Given the description of an element on the screen output the (x, y) to click on. 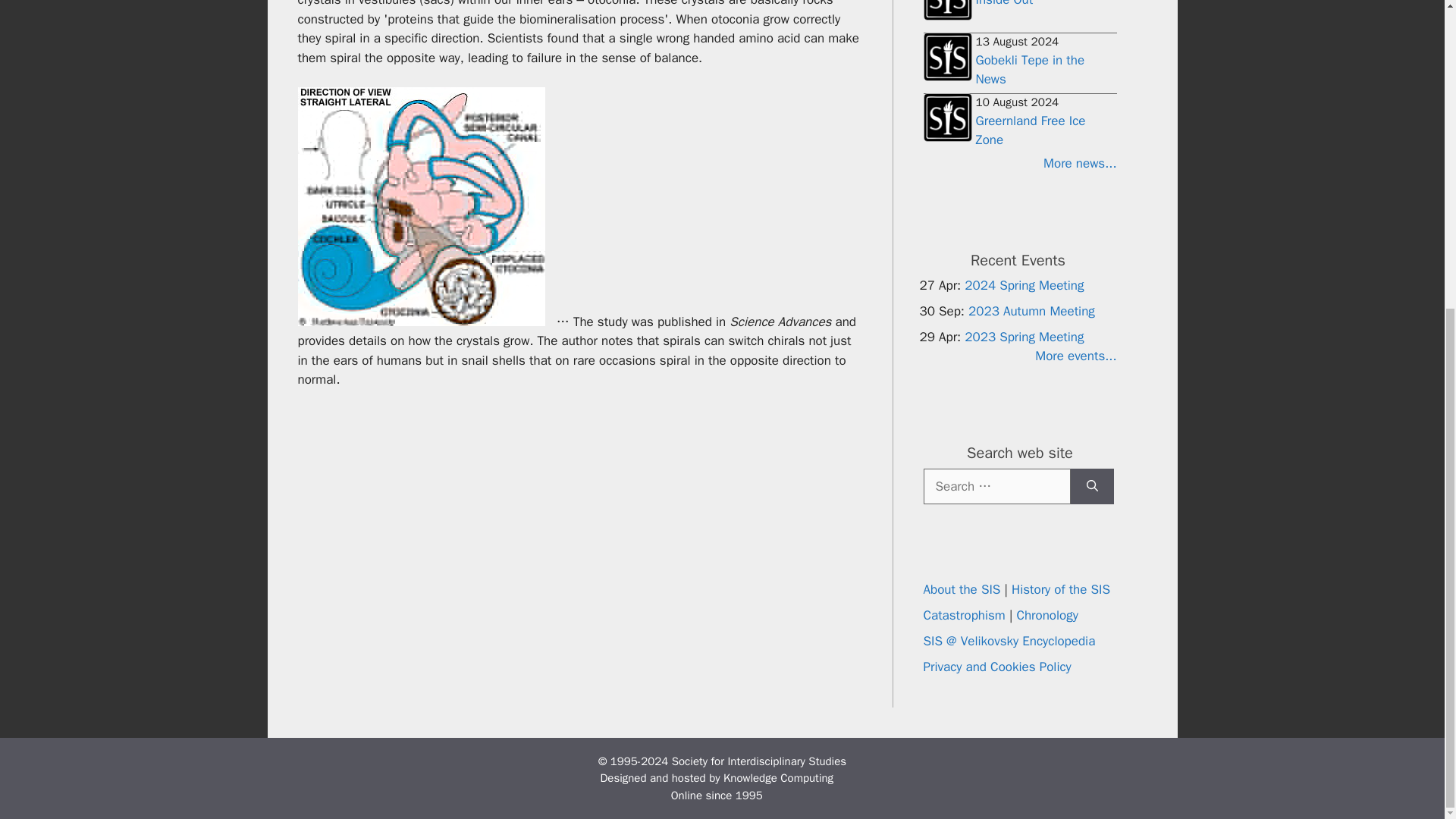
Inside Out (1003, 3)
Gobekli Tepe in the News (1029, 69)
Greernland Free Ice Zone (1029, 130)
2024 Spring Meeting (1023, 284)
More news... (1019, 163)
2023 Autumn Meeting (1031, 310)
Search for: (996, 485)
